Given the description of an element on the screen output the (x, y) to click on. 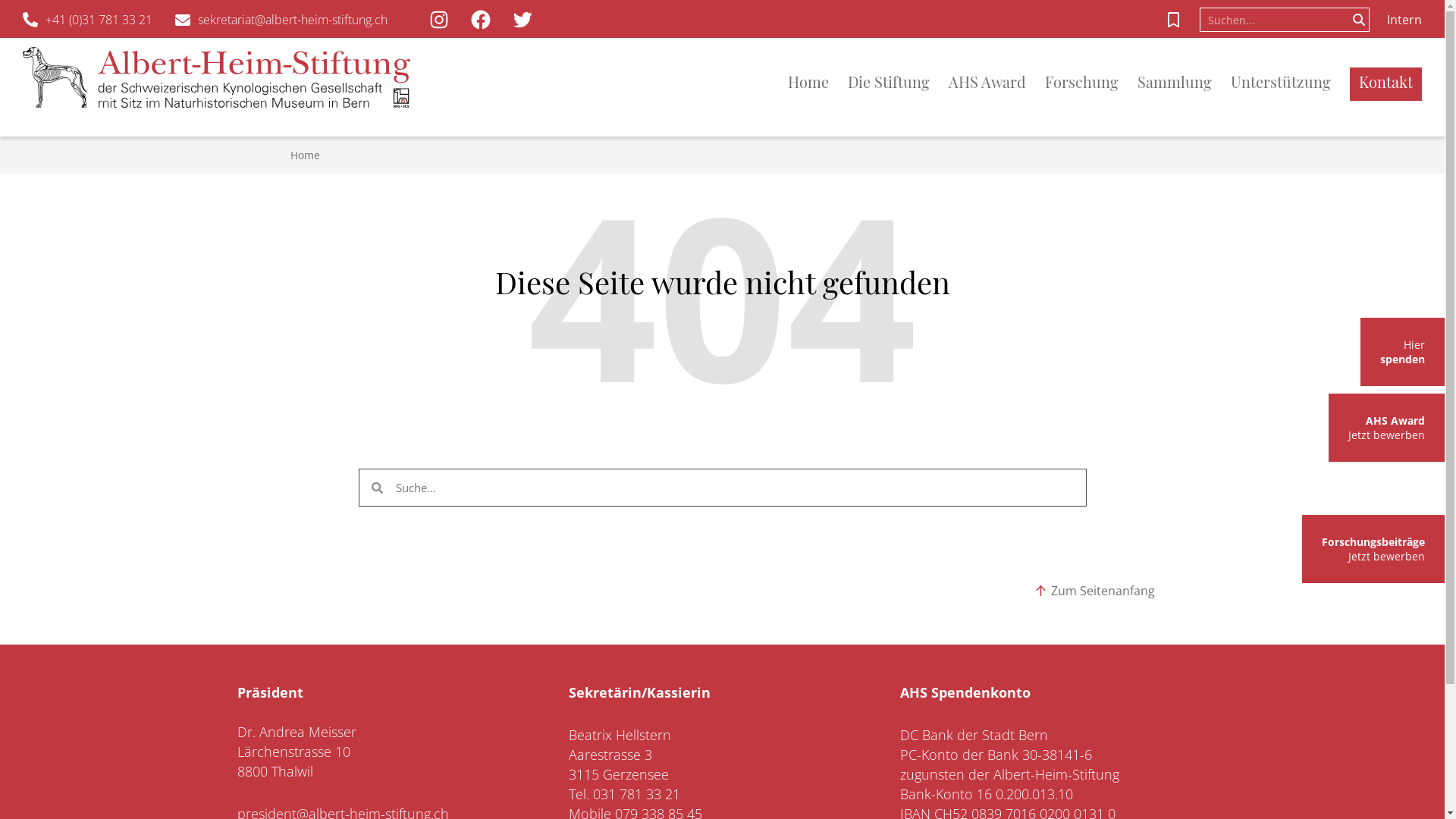
AHS Award Element type: text (996, 83)
Zum Seitenanfang Element type: text (1094, 590)
Suchen Element type: text (1358, 19)
Hier
spenden Element type: text (1402, 351)
+41 (0)31 781 33 21 Element type: text (87, 19)
Forschung Element type: text (1090, 83)
Die Stiftung Element type: text (897, 83)
Intern Element type: text (1403, 19)
Home Element type: text (304, 155)
Home Element type: text (817, 83)
AHS Award
Jetzt bewerben Element type: text (1386, 427)
sekretariat@albert-heim-stiftung.ch Element type: text (281, 19)
Kontakt Element type: text (1385, 83)
Sammlung Element type: text (1183, 83)
